Given the description of an element on the screen output the (x, y) to click on. 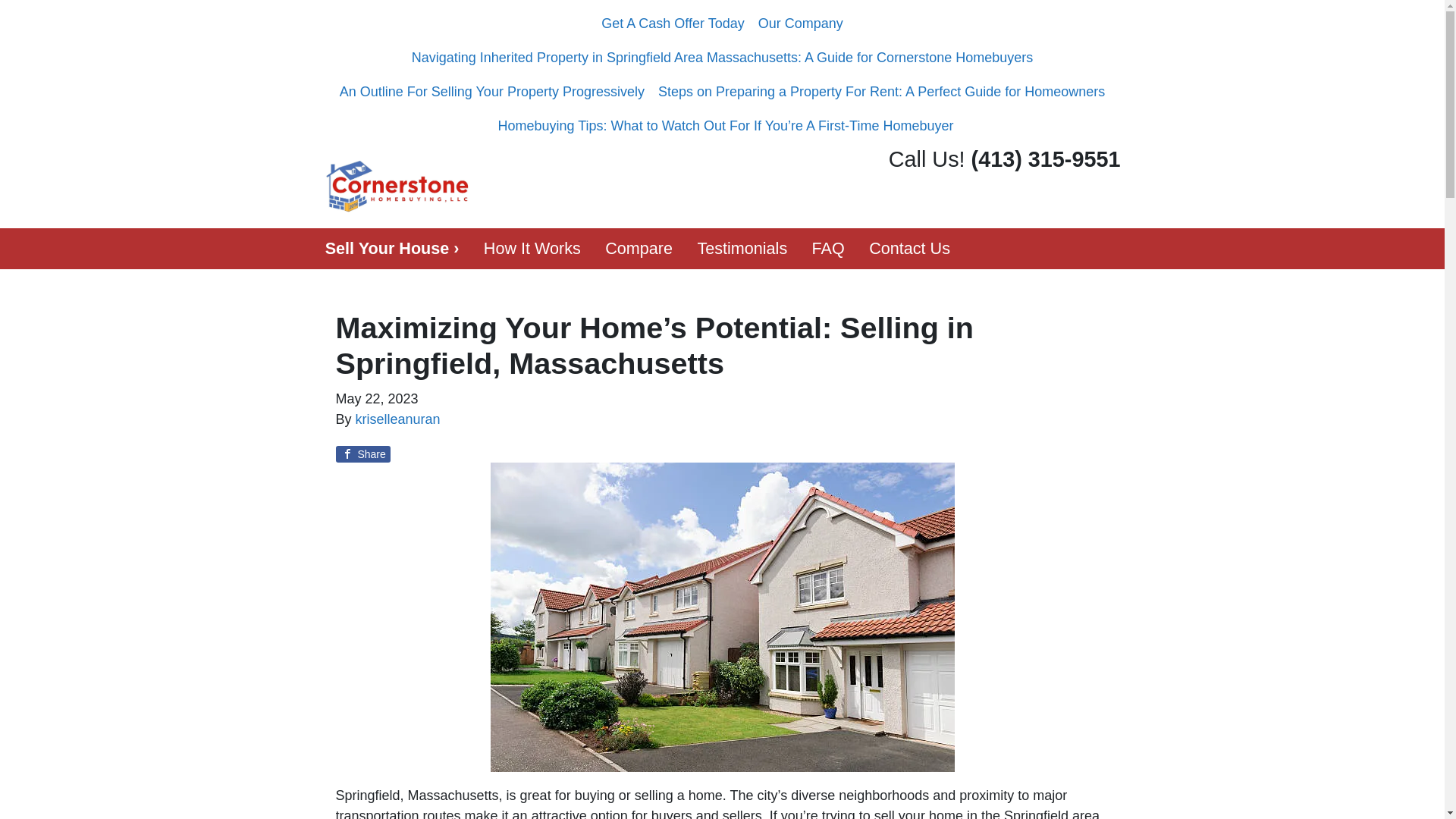
Compare (638, 248)
How It Works (531, 248)
How It Works (531, 248)
Contact Us (909, 248)
FAQ (828, 248)
Testimonials (741, 248)
Compare (638, 248)
Testimonials (741, 248)
FAQ (828, 248)
Our Company (800, 23)
kriselleanuran (398, 418)
Get A Cash Offer Today (672, 23)
Share on Facebook (362, 453)
Contact Us (909, 248)
